Given the description of an element on the screen output the (x, y) to click on. 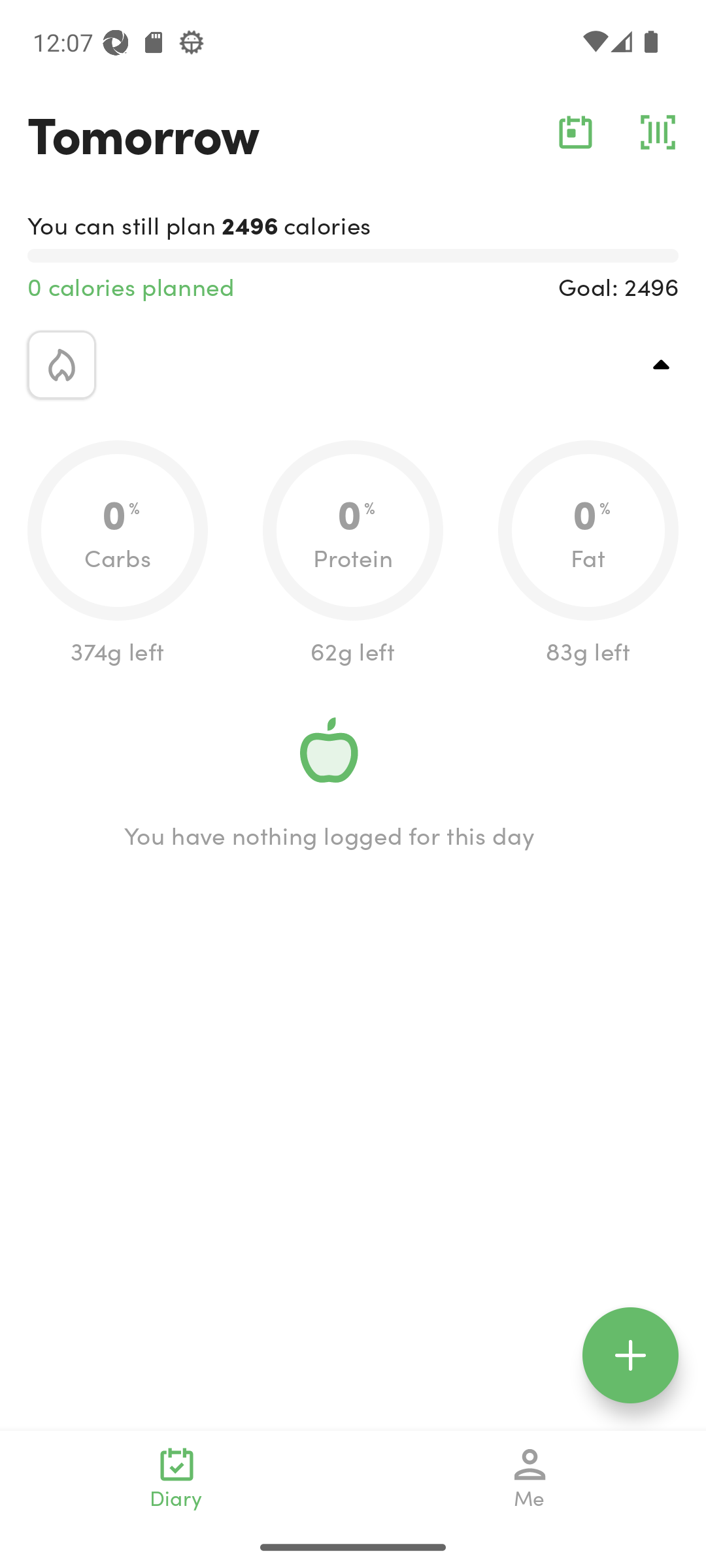
calendar_action (575, 132)
barcode_action (658, 132)
calorie_icon (62, 365)
top_right_action (661, 365)
0.0 0 % Carbs 374g left (117, 553)
0.0 0 % Protein 62g left (352, 553)
0.0 0 % Fat 83g left (588, 553)
floating_action_icon (630, 1355)
Me navigation_icon (529, 1478)
